Given the description of an element on the screen output the (x, y) to click on. 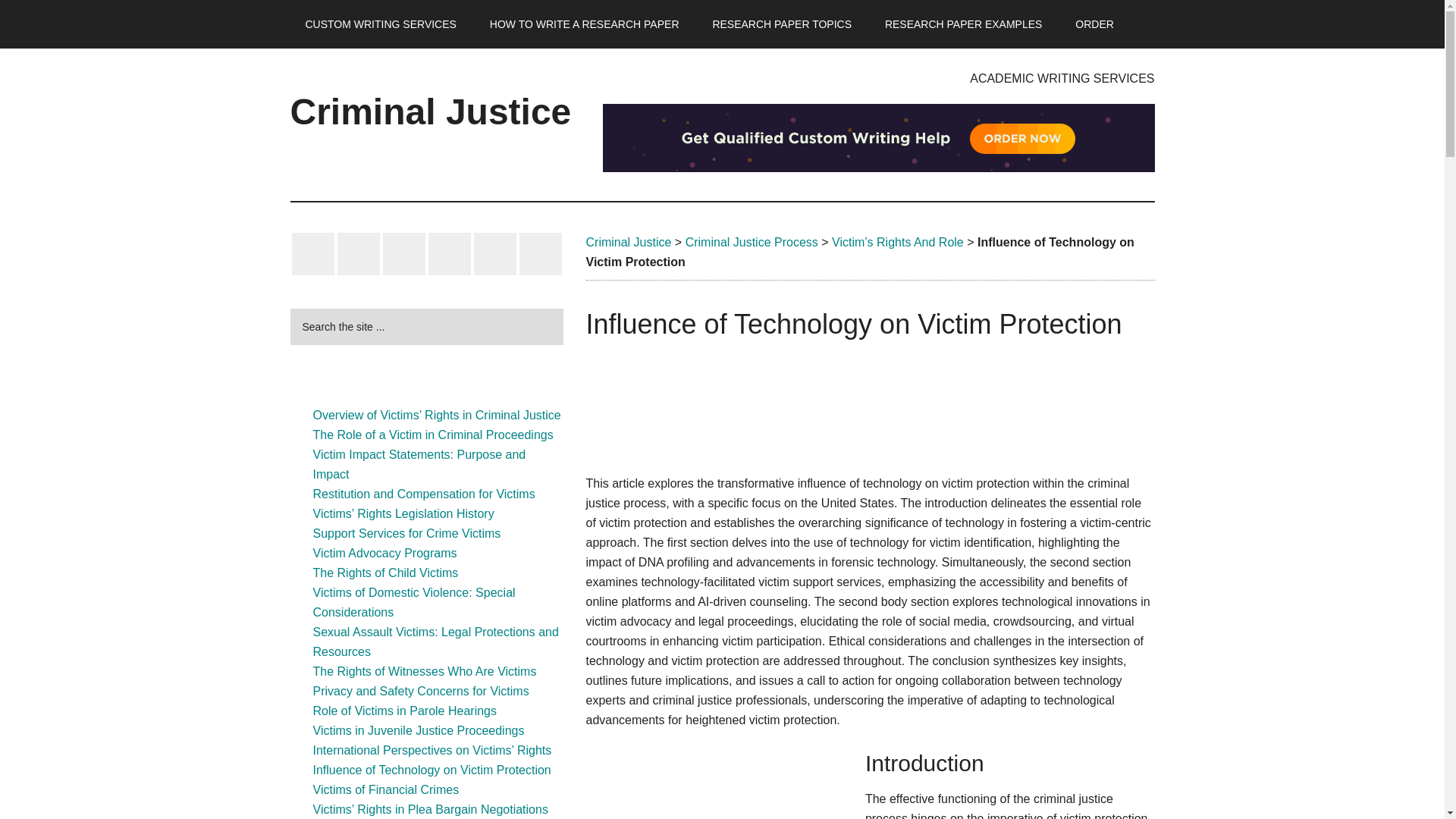
Support Services for Crime Victims (406, 533)
CUSTOM WRITING SERVICES (379, 24)
Criminal Justice (628, 241)
Criminal Justice (429, 111)
The Role of a Victim in Criminal Proceedings (433, 434)
Support Services for Crime Victims (406, 533)
Criminal Justice Process (751, 241)
Victim Advocacy Programs (385, 553)
RESEARCH PAPER EXAMPLES (963, 24)
